Given the description of an element on the screen output the (x, y) to click on. 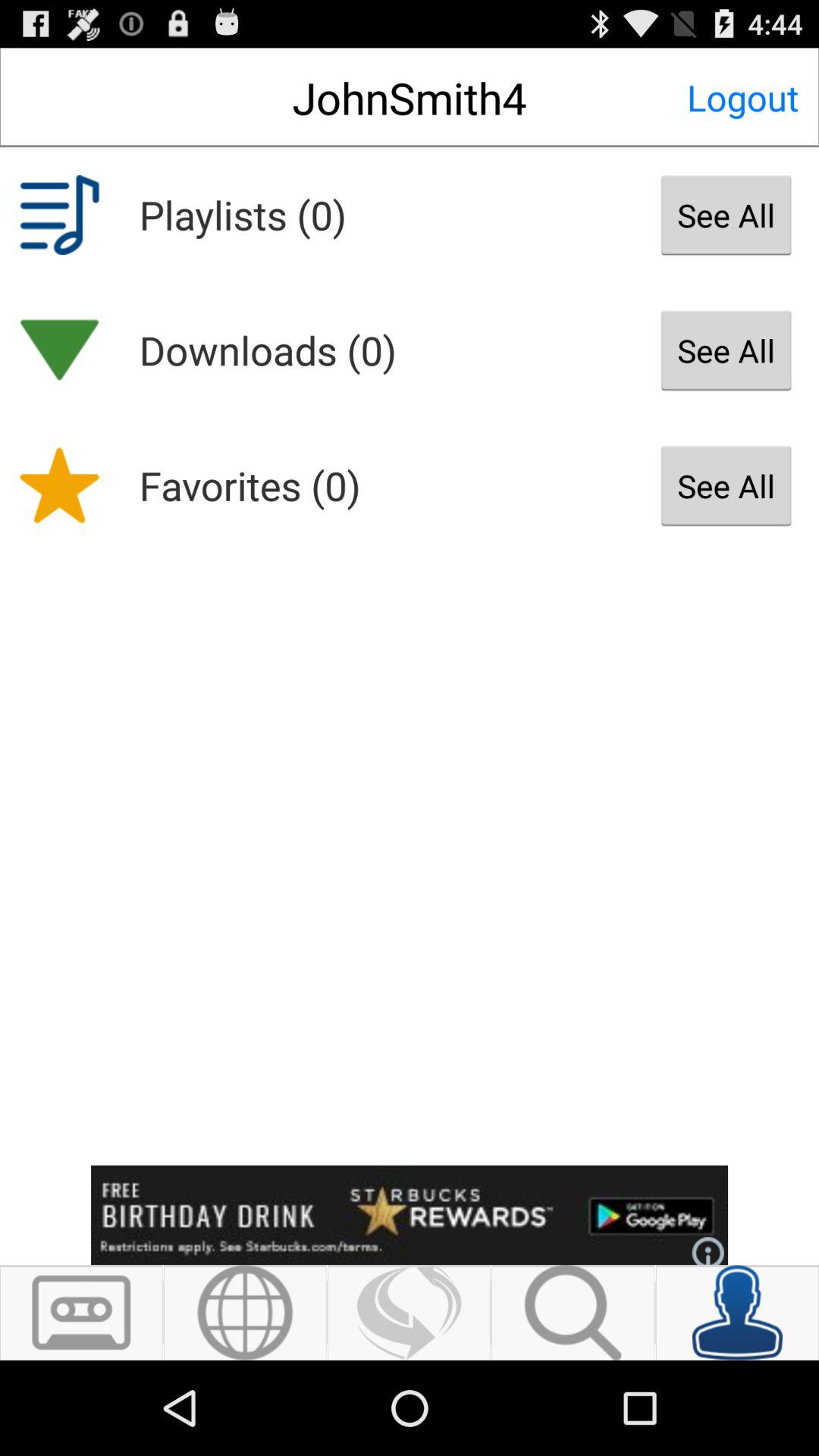
open advertisement (409, 1214)
